Given the description of an element on the screen output the (x, y) to click on. 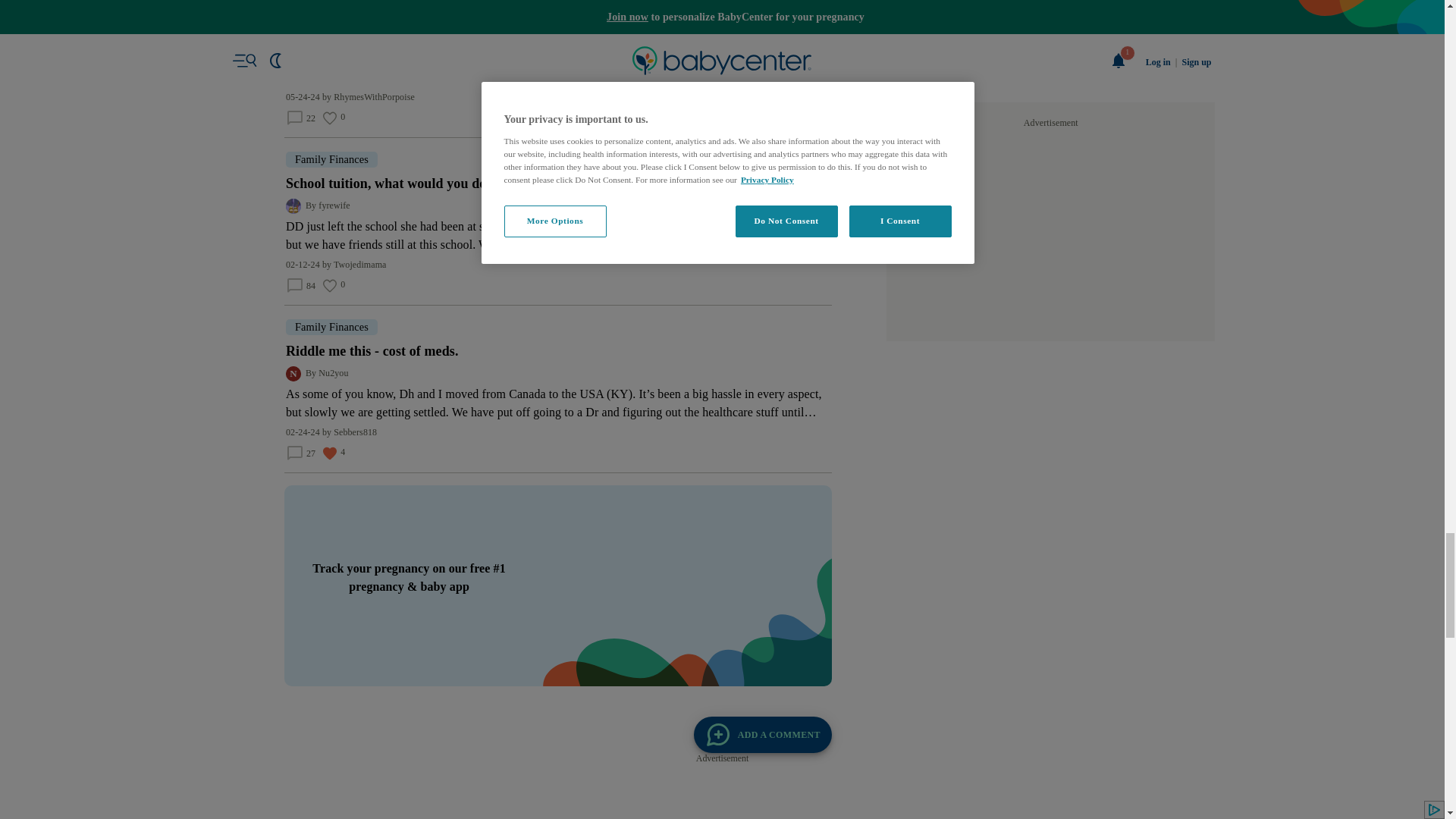
Go to page number (541, 251)
2 (541, 251)
